Given the description of an element on the screen output the (x, y) to click on. 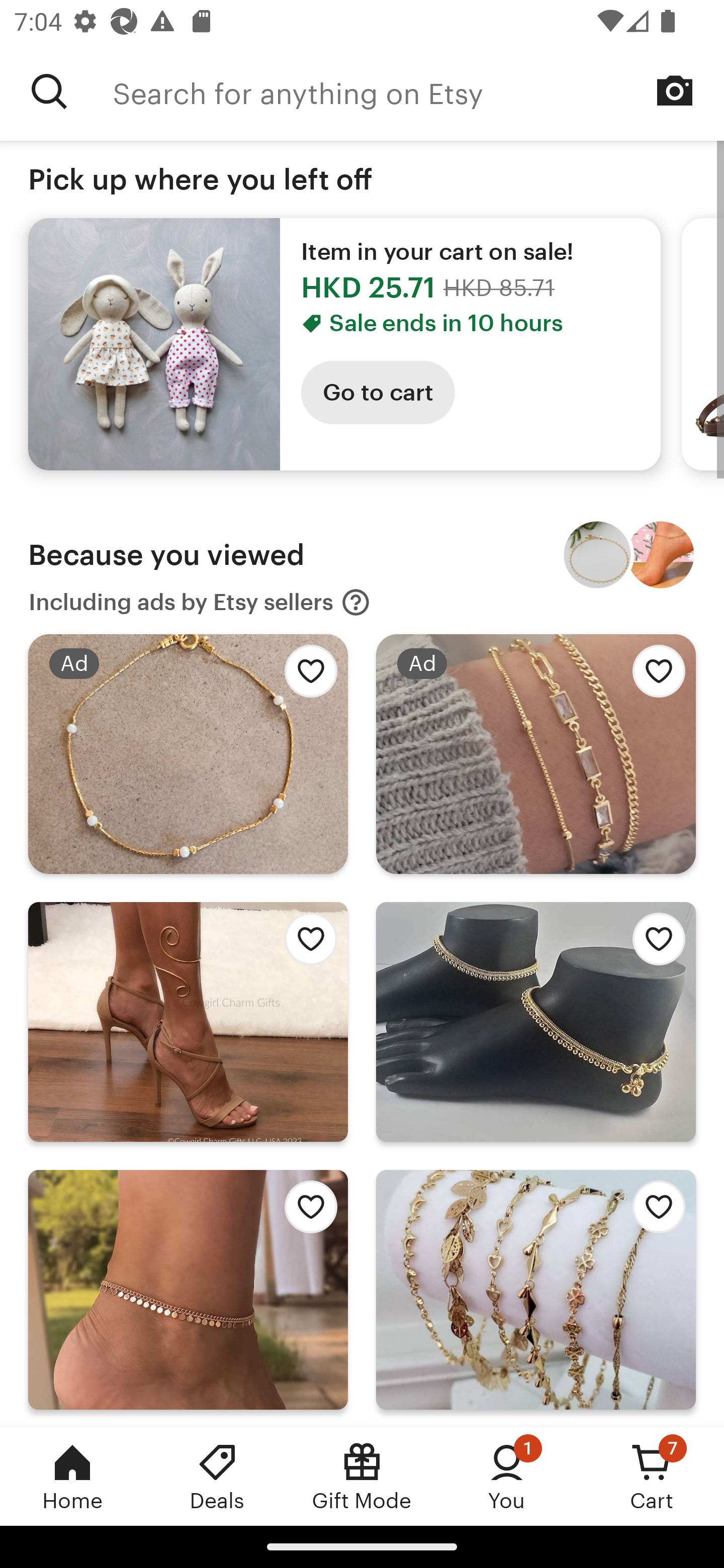
Search for anything on Etsy (49, 91)
Search by image (674, 90)
Search for anything on Etsy (418, 91)
Including ads by Etsy sellers (199, 601)
Deals (216, 1475)
Gift Mode (361, 1475)
You, 1 new notification You (506, 1475)
Cart, 7 new notifications Cart (651, 1475)
